Given the description of an element on the screen output the (x, y) to click on. 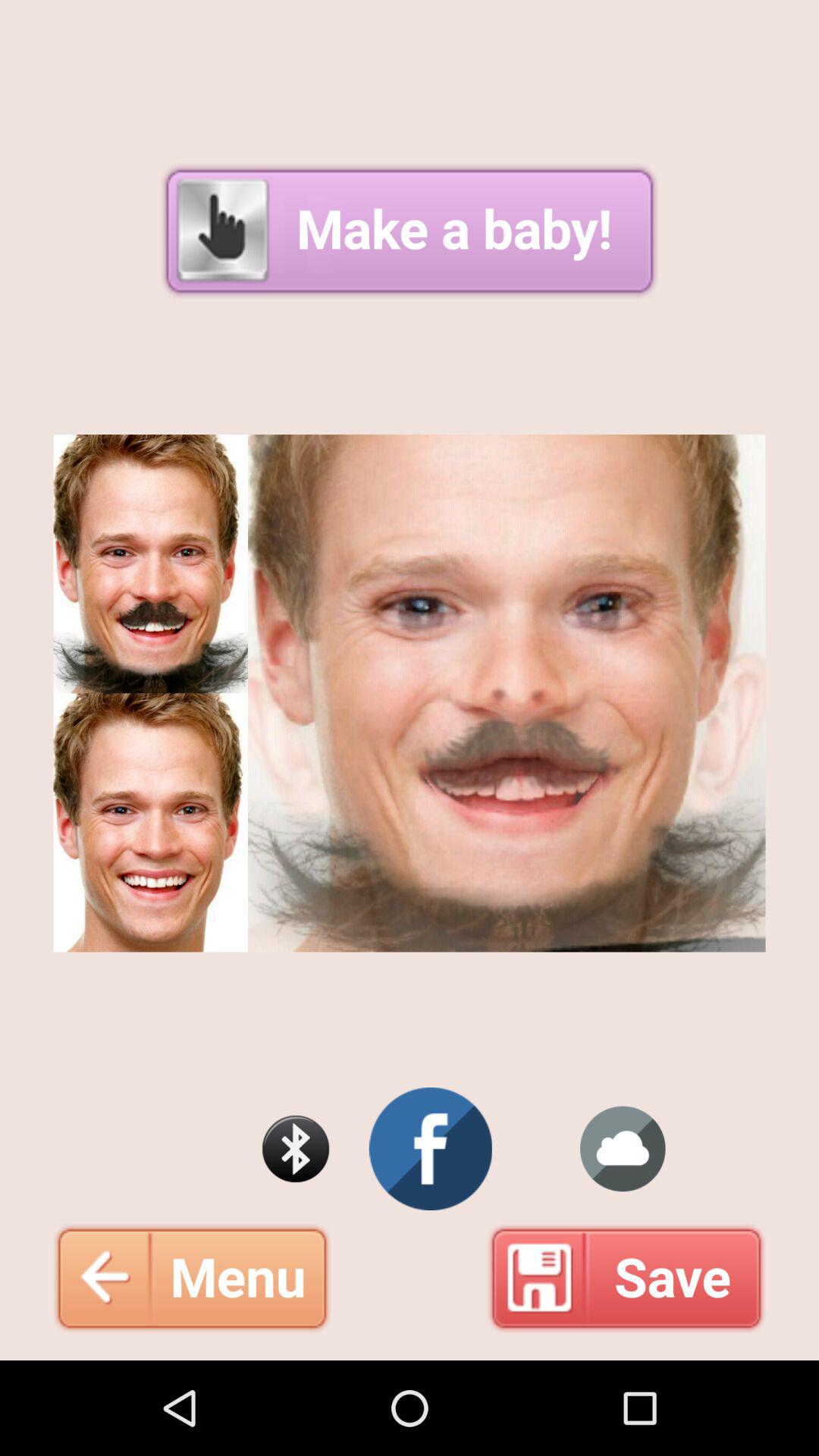
press make a baby! icon (409, 231)
